Given the description of an element on the screen output the (x, y) to click on. 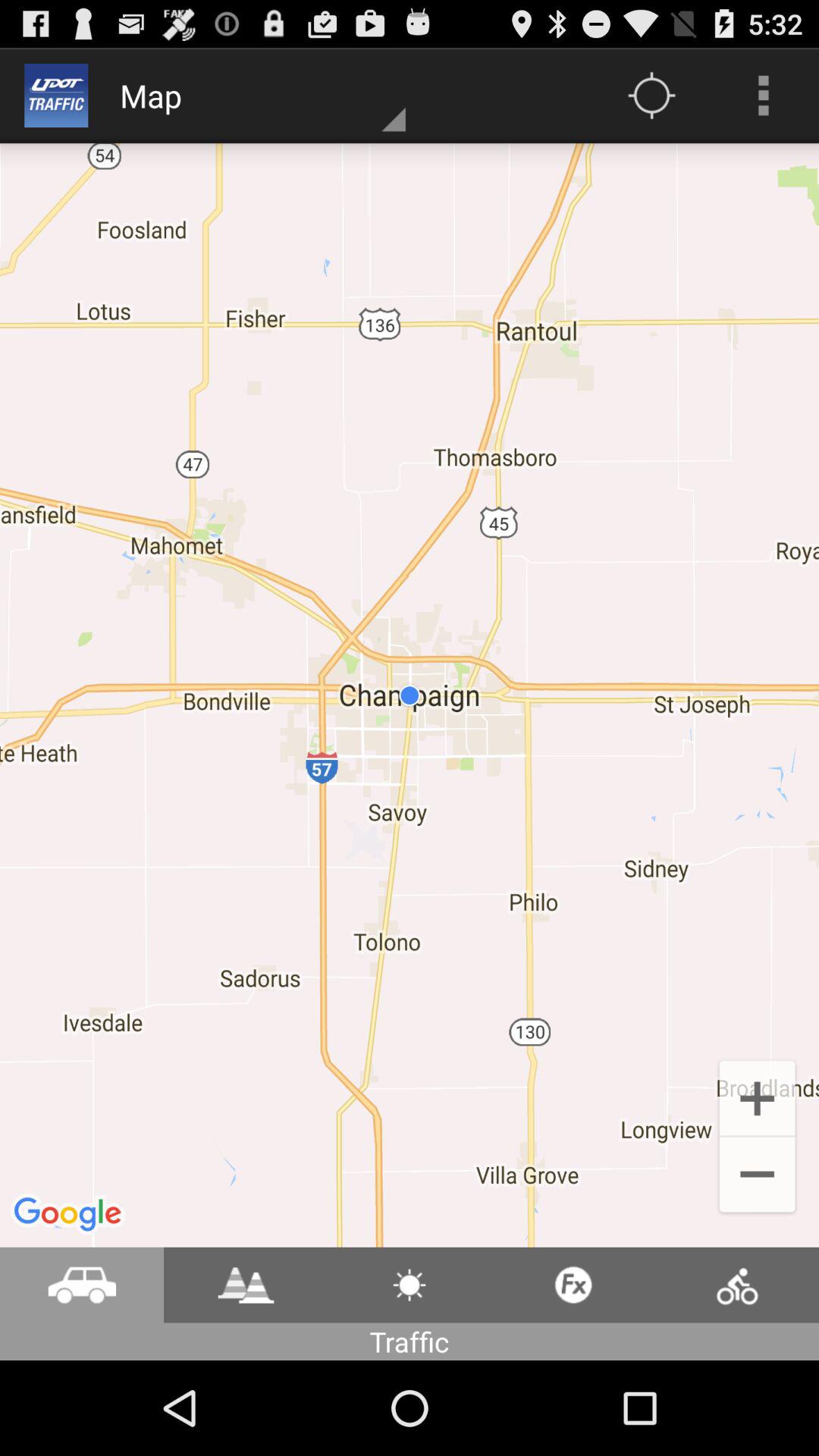
check traffic (81, 1284)
